Given the description of an element on the screen output the (x, y) to click on. 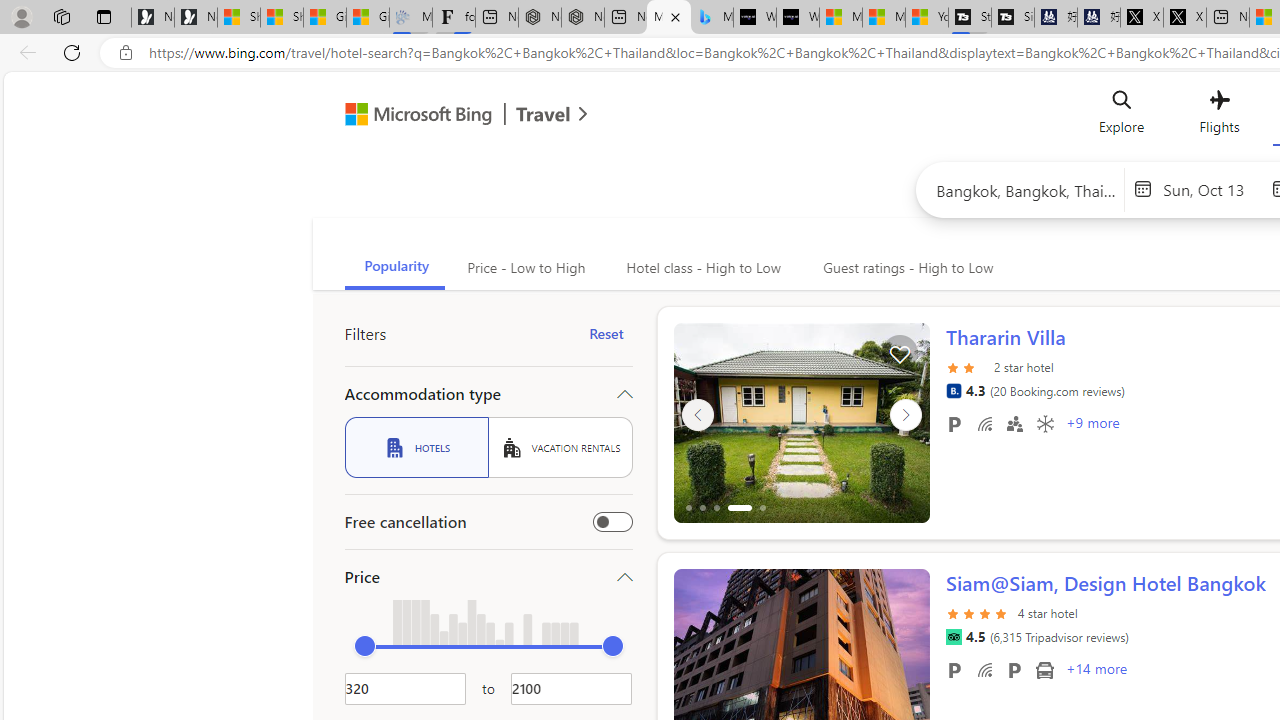
Search hotels or place (1026, 190)
Accommodation type (488, 393)
Microsoft Bing Travel - Stays in Bangkok, Bangkok, Thailand (668, 17)
Streaming Coverage | T3 (969, 17)
Tripadvisor (953, 637)
Back (24, 52)
VACATION RENTALS (560, 447)
Air conditioning (1044, 423)
AutomationID: TextField877 (571, 688)
Nordace - #1 Japanese Best-Seller - Siena Smart Backpack (582, 17)
ScrollRight (905, 660)
Class: msft-bing-logo msft-bing-logo-desktop (413, 114)
Personal Profile (21, 16)
New tab (1228, 17)
